Given the description of an element on the screen output the (x, y) to click on. 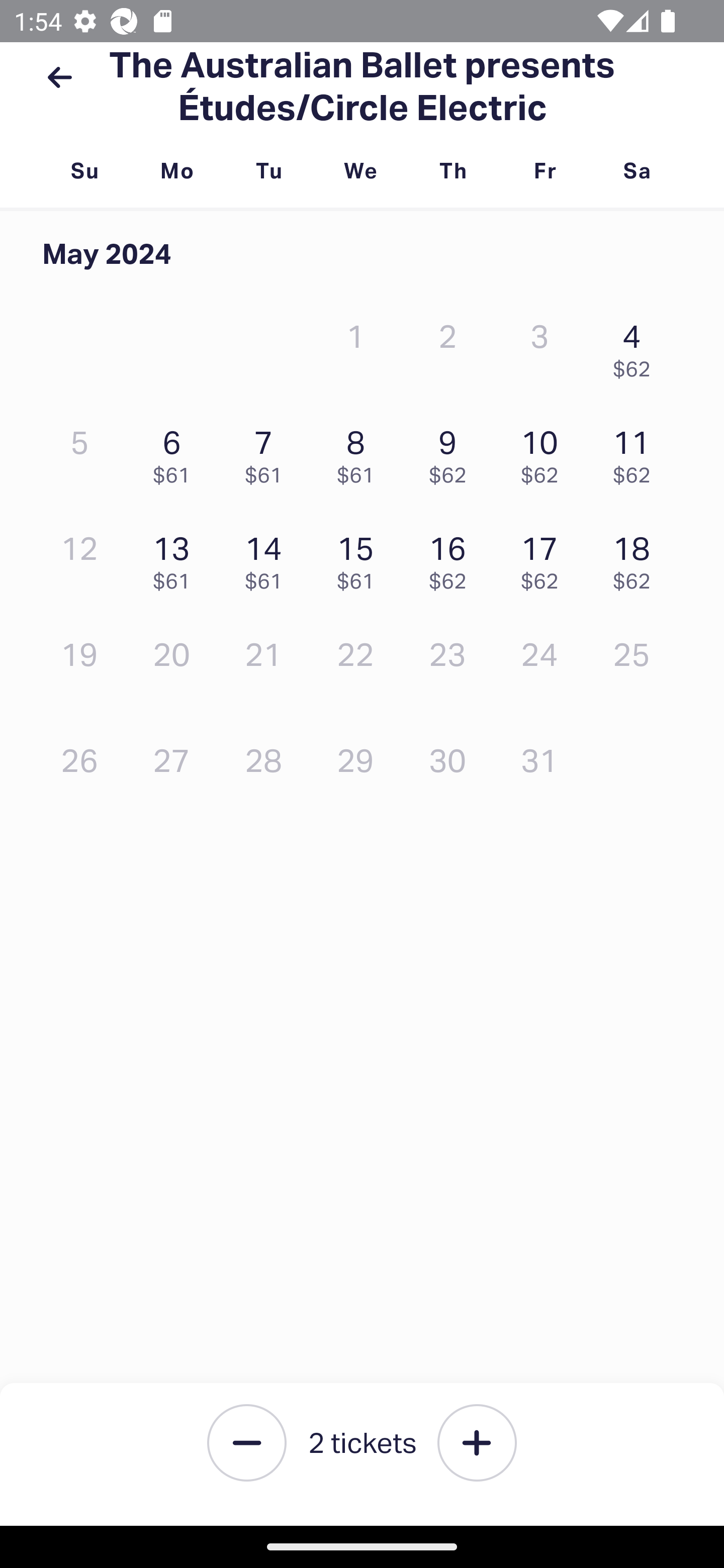
back button (59, 77)
4 $62 (636, 345)
6 $61 (176, 451)
7 $61 (268, 451)
8 $61 (360, 451)
9 $62 (452, 451)
10 $62 (544, 451)
11 $62 (636, 451)
13 $61 (176, 558)
14 $61 (268, 558)
15 $61 (360, 558)
16 $62 (452, 558)
17 $62 (544, 558)
18 $62 (636, 558)
